Given the description of an element on the screen output the (x, y) to click on. 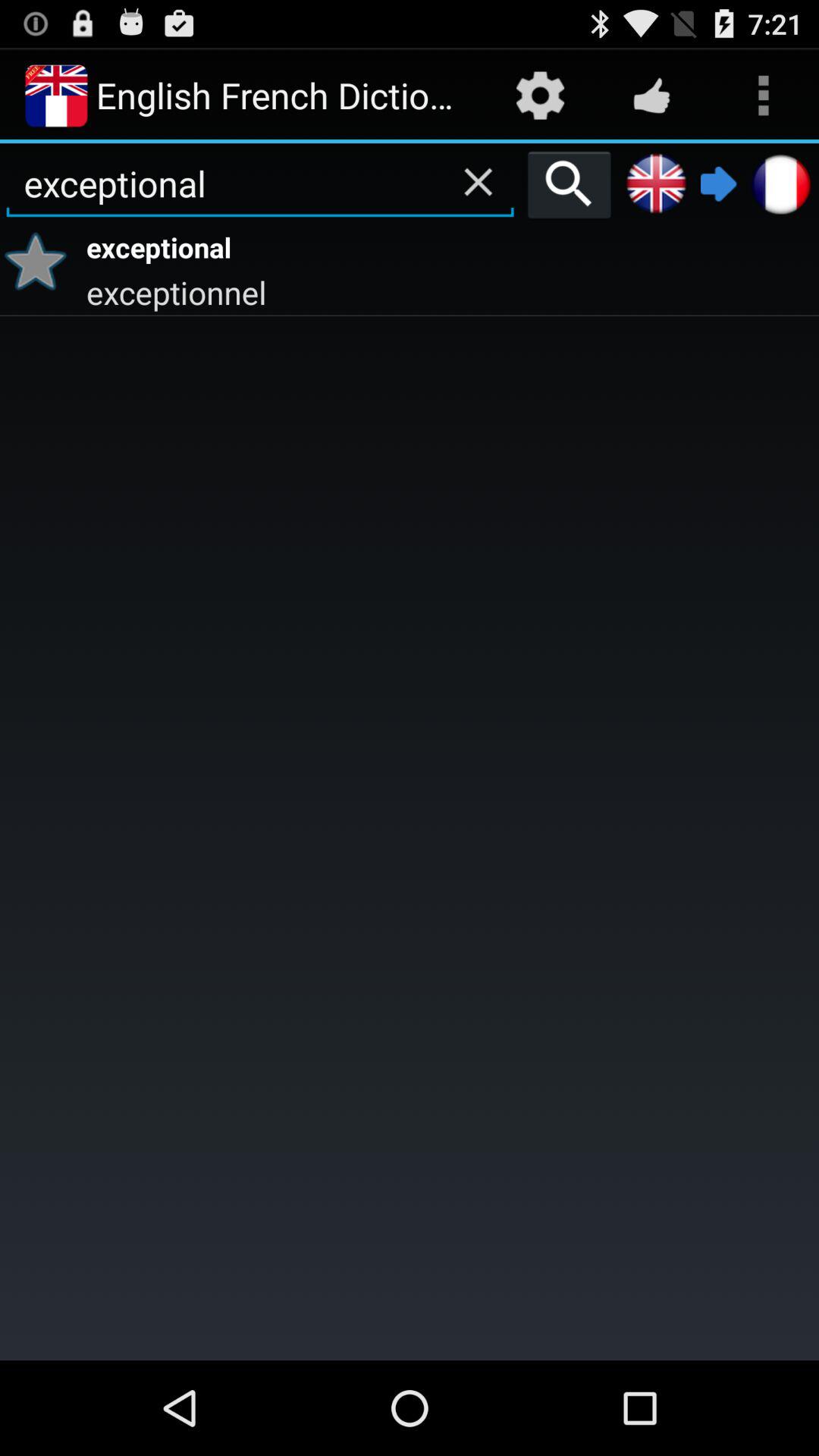
tap icon to the right of english french dictionary app (540, 95)
